Given the description of an element on the screen output the (x, y) to click on. 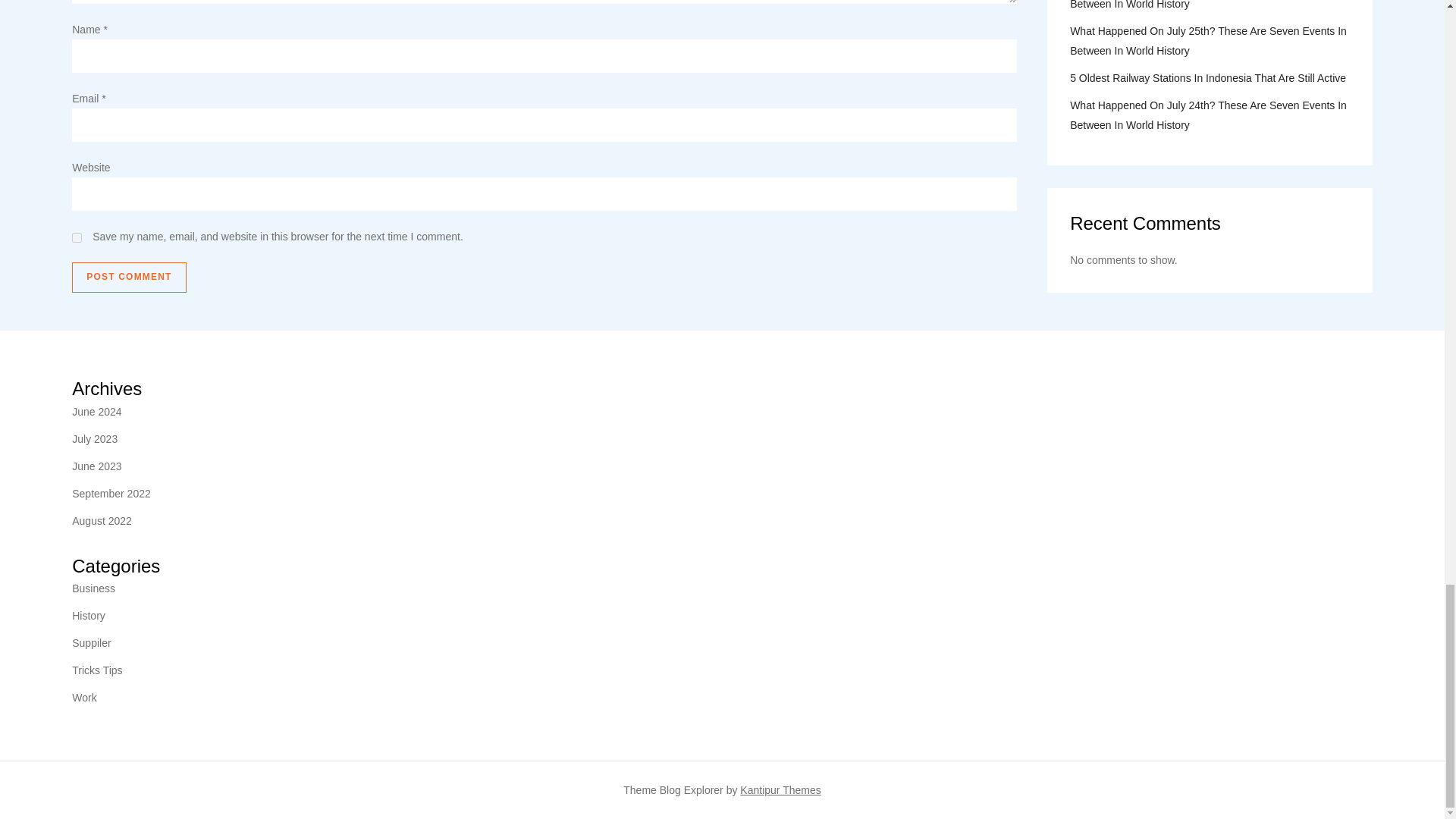
Kantipur Themes (780, 789)
Post Comment (128, 277)
Business (93, 588)
July 2023 (94, 438)
August 2022 (101, 520)
Post Comment (128, 277)
yes (76, 237)
June 2023 (95, 465)
September 2022 (111, 493)
June 2024 (95, 411)
